Given the description of an element on the screen output the (x, y) to click on. 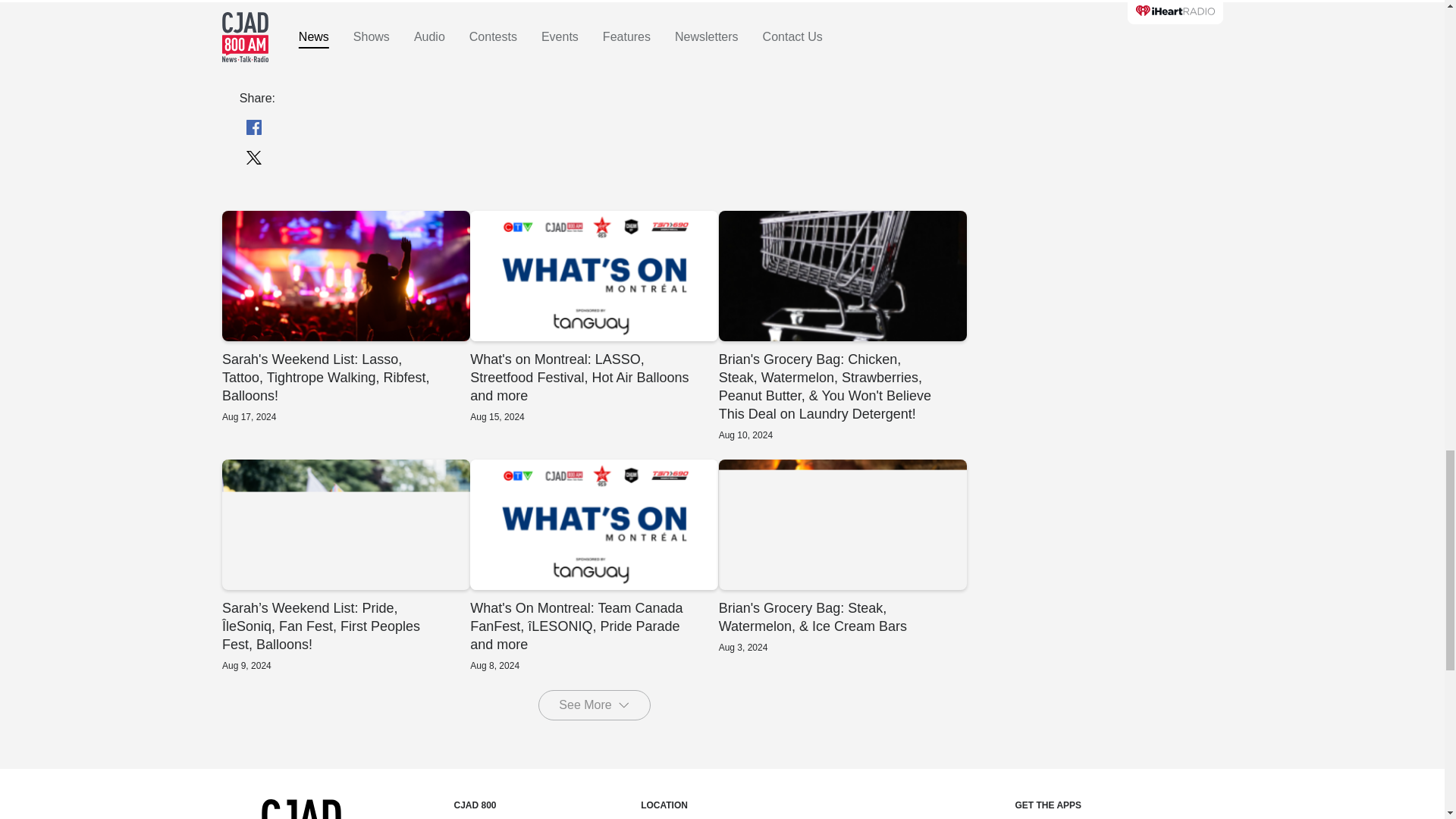
See More (593, 705)
